Given the description of an element on the screen output the (x, y) to click on. 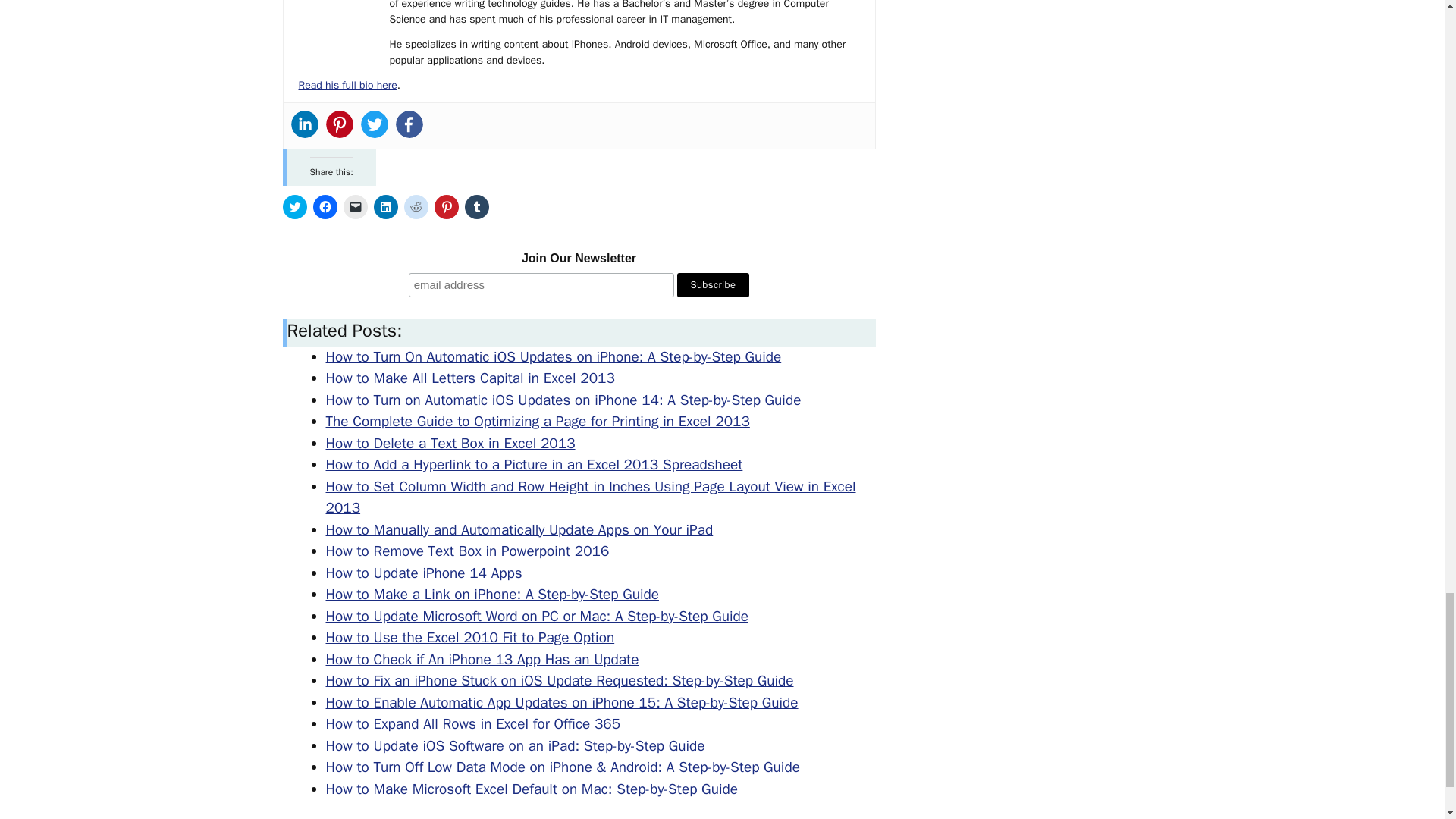
How to Remove Text Box in Powerpoint 2016 (468, 551)
How to Make a Link on iPhone: A Step-by-Step Guide (492, 594)
How to Delete a Text Box in Excel 2013 (450, 443)
Subscribe (713, 284)
How to Use the Excel 2010 Fit to Page Option (470, 637)
How to Expand All Rows in Excel for Office 365 (473, 723)
How to Update iPhone 14 Apps (424, 573)
How to Manually and Automatically Update Apps on Your iPad (519, 529)
